Given the description of an element on the screen output the (x, y) to click on. 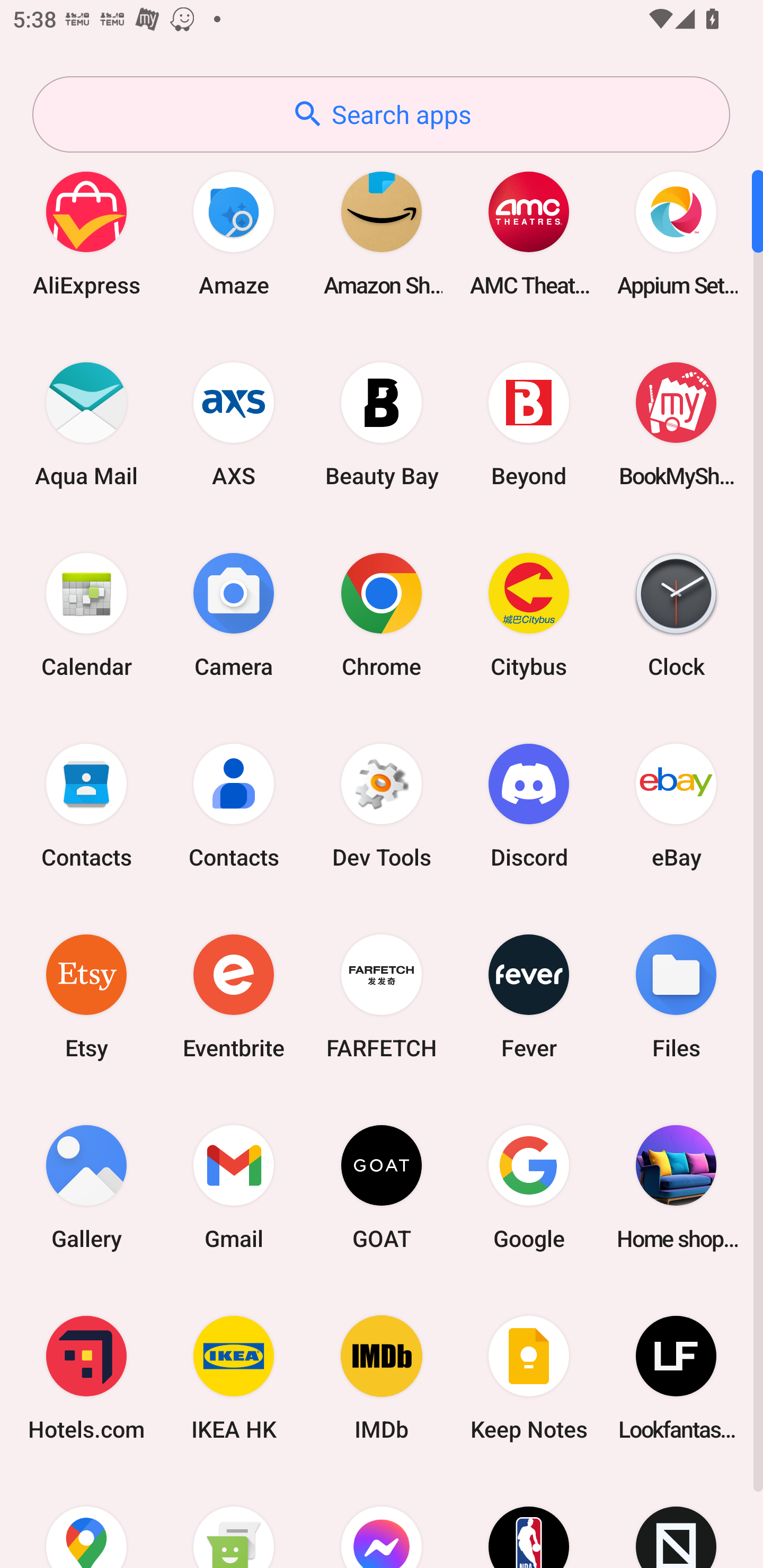
  Search apps (381, 114)
AliExpress (86, 233)
Amaze (233, 233)
Amazon Shopping (381, 233)
AMC Theatres (528, 233)
Appium Settings (676, 233)
Aqua Mail (86, 424)
AXS (233, 424)
Beauty Bay (381, 424)
Beyond (528, 424)
BookMyShow (676, 424)
Calendar (86, 614)
Camera (233, 614)
Chrome (381, 614)
Citybus (528, 614)
Clock (676, 614)
Contacts (86, 805)
Contacts (233, 805)
Dev Tools (381, 805)
Discord (528, 805)
eBay (676, 805)
Etsy (86, 996)
Eventbrite (233, 996)
FARFETCH (381, 996)
Fever (528, 996)
Files (676, 996)
Gallery (86, 1186)
Gmail (233, 1186)
GOAT (381, 1186)
Google (528, 1186)
Home shopping (676, 1186)
Hotels.com (86, 1377)
IKEA HK (233, 1377)
IMDb (381, 1377)
Keep Notes (528, 1377)
Lookfantastic (676, 1377)
Maps (86, 1520)
Messaging (233, 1520)
Messenger (381, 1520)
NBA (528, 1520)
Novelship (676, 1520)
